Given the description of an element on the screen output the (x, y) to click on. 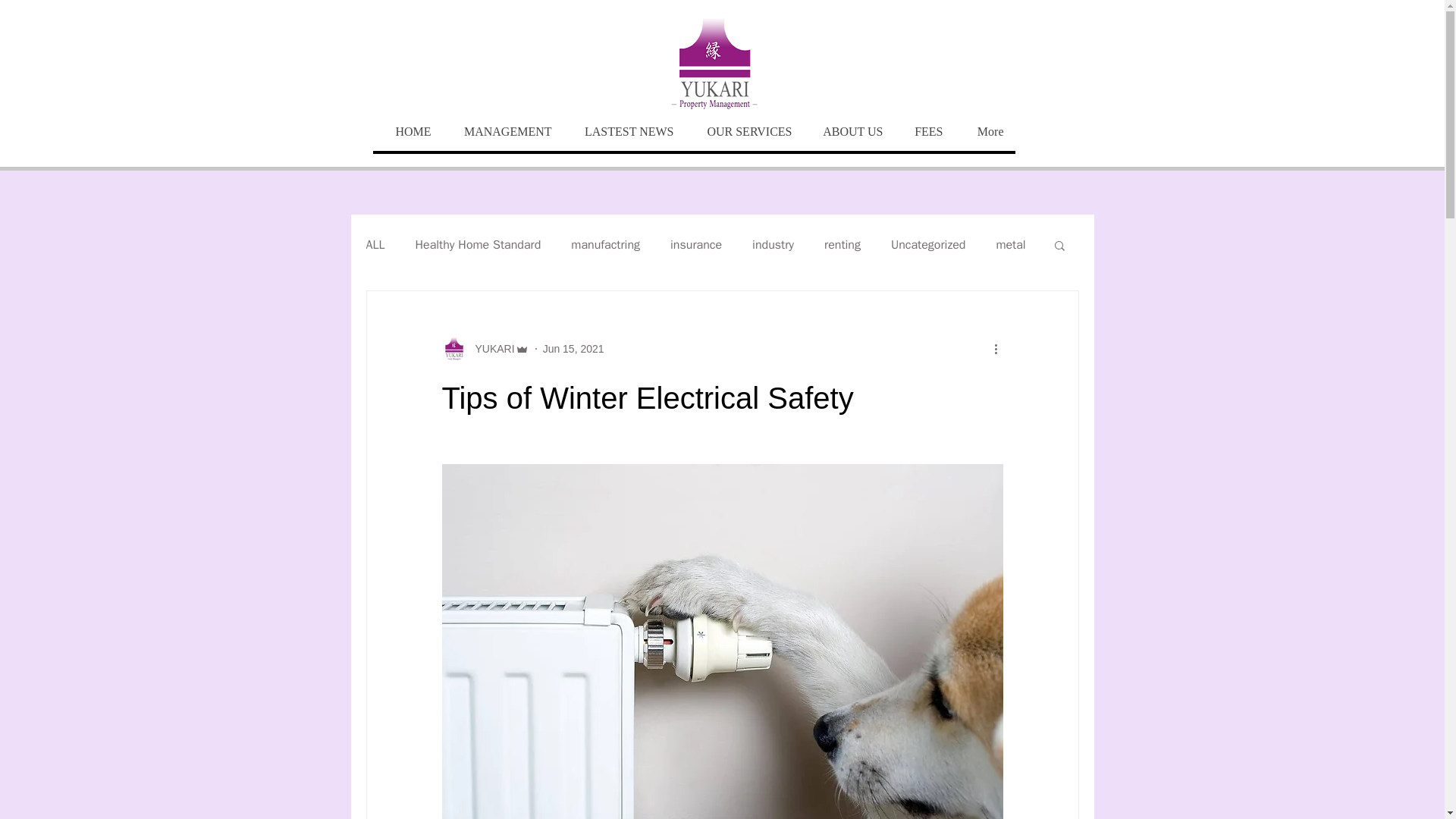
industry (772, 244)
YUKARI (489, 349)
FEES (925, 131)
metal (1010, 244)
Healthy Home Standard (477, 244)
manufactring (605, 244)
Jun 15, 2021 (573, 348)
HOME (407, 131)
renting (842, 244)
OUR SERVICES (744, 131)
LASTEST NEWS (623, 131)
MANAGEMENT (502, 131)
ALL (374, 244)
ABOUT US (849, 131)
Uncategorized (928, 244)
